Given the description of an element on the screen output the (x, y) to click on. 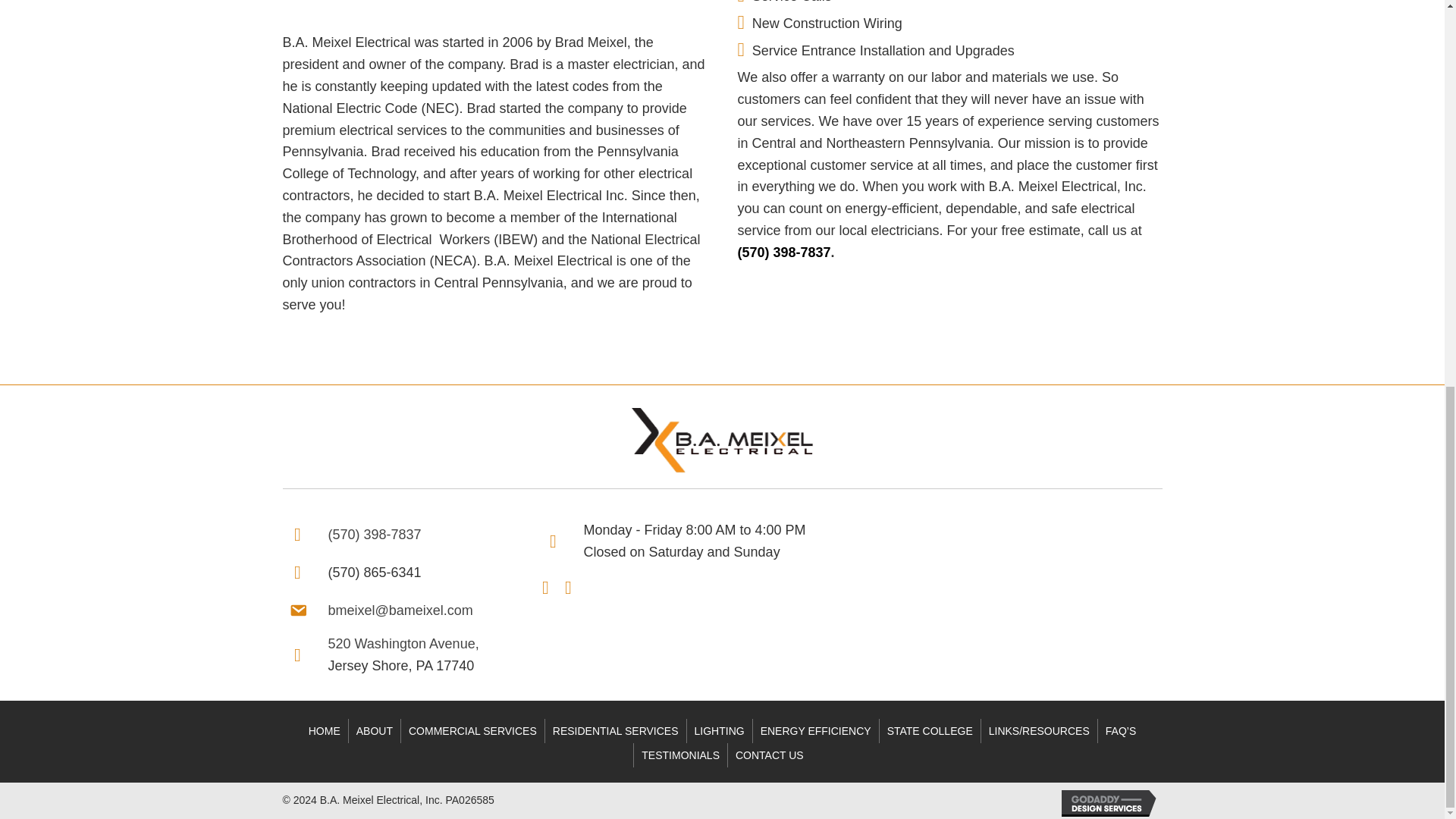
520 Washington Avenue, (403, 643)
ENERGY EFFICIENCY (815, 730)
CONTACT US (769, 754)
RESIDENTIAL SERVICES (614, 730)
ABOUT (374, 730)
Twitter (567, 585)
HOME (324, 730)
COMMERCIAL SERVICES (472, 730)
STATE COLLEGE (929, 730)
Facebook (545, 585)
LIGHTING (719, 730)
logo (721, 440)
TESTIMONIALS (679, 754)
